Given the description of an element on the screen output the (x, y) to click on. 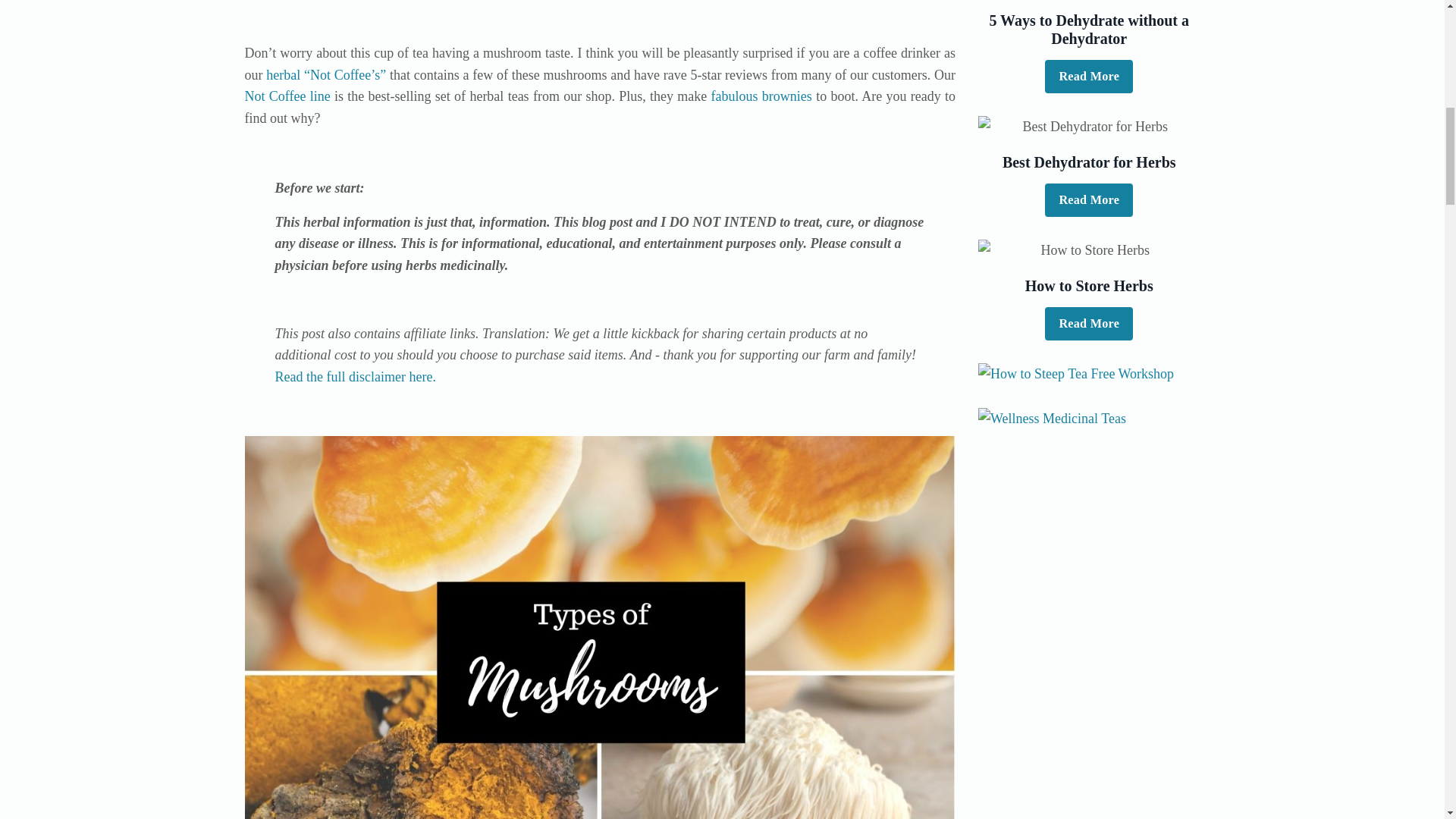
Read the full disclaimer here. (355, 376)
Not Coffee line (287, 96)
fabulous brownies (761, 96)
